Given the description of an element on the screen output the (x, y) to click on. 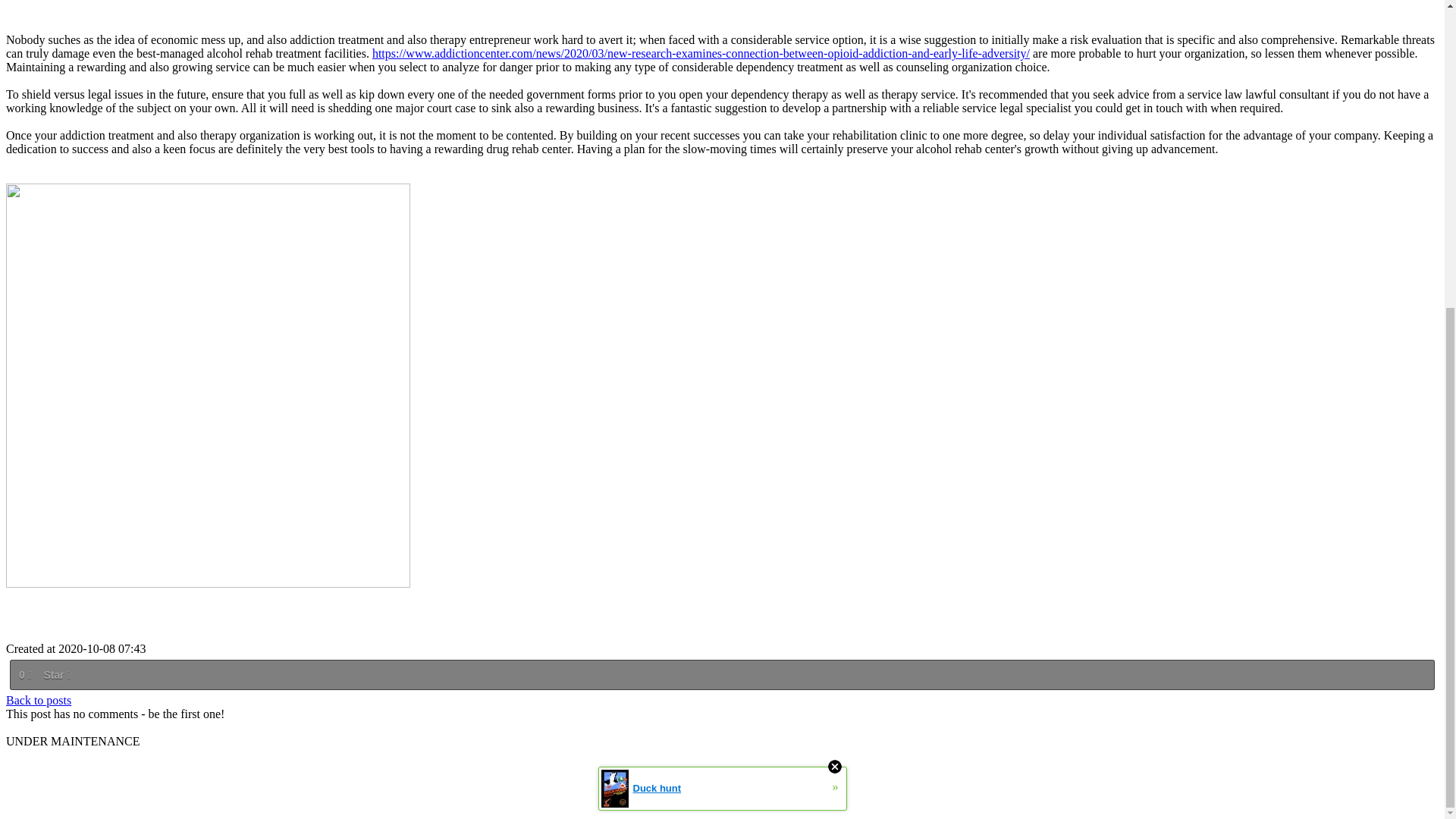
Back to posts (38, 699)
0 (24, 674)
Star (56, 674)
